Given the description of an element on the screen output the (x, y) to click on. 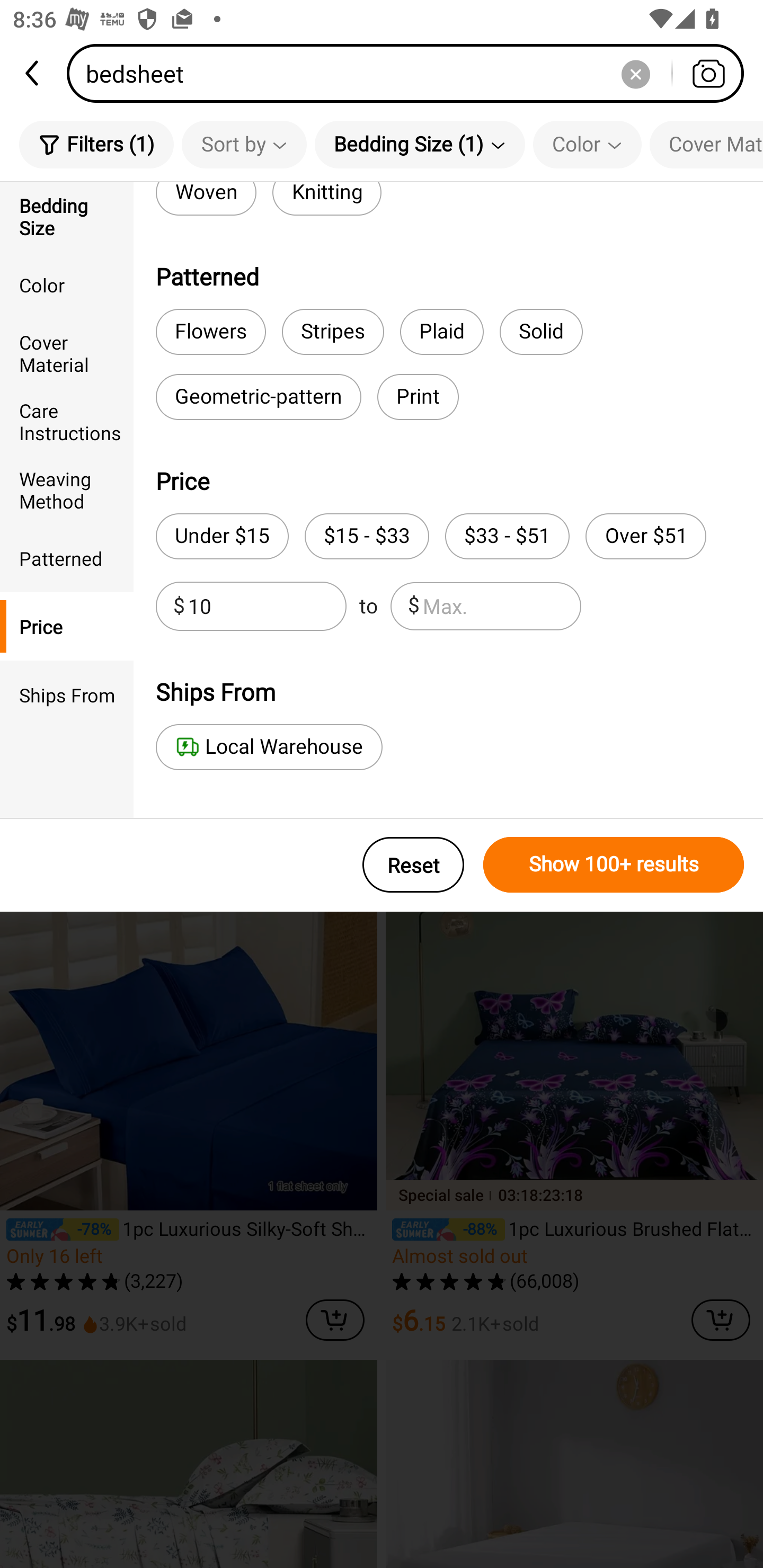
back (33, 72)
bedsheet (411, 73)
Delete search history (635, 73)
Search by photo (708, 73)
Filters (1) (96, 143)
Sort by (243, 143)
Bedding Size (1) (419, 143)
Color (587, 143)
Cover Material (706, 143)
Bedding Size (66, 215)
Woven (205, 198)
Knitting (326, 198)
bed sheet set (232, 271)
Color (66, 284)
Flowers (210, 331)
Stripes (332, 331)
Plaid (441, 331)
Solid (540, 331)
Cover Material (66, 352)
Geometric-pattern (258, 397)
